Given the description of an element on the screen output the (x, y) to click on. 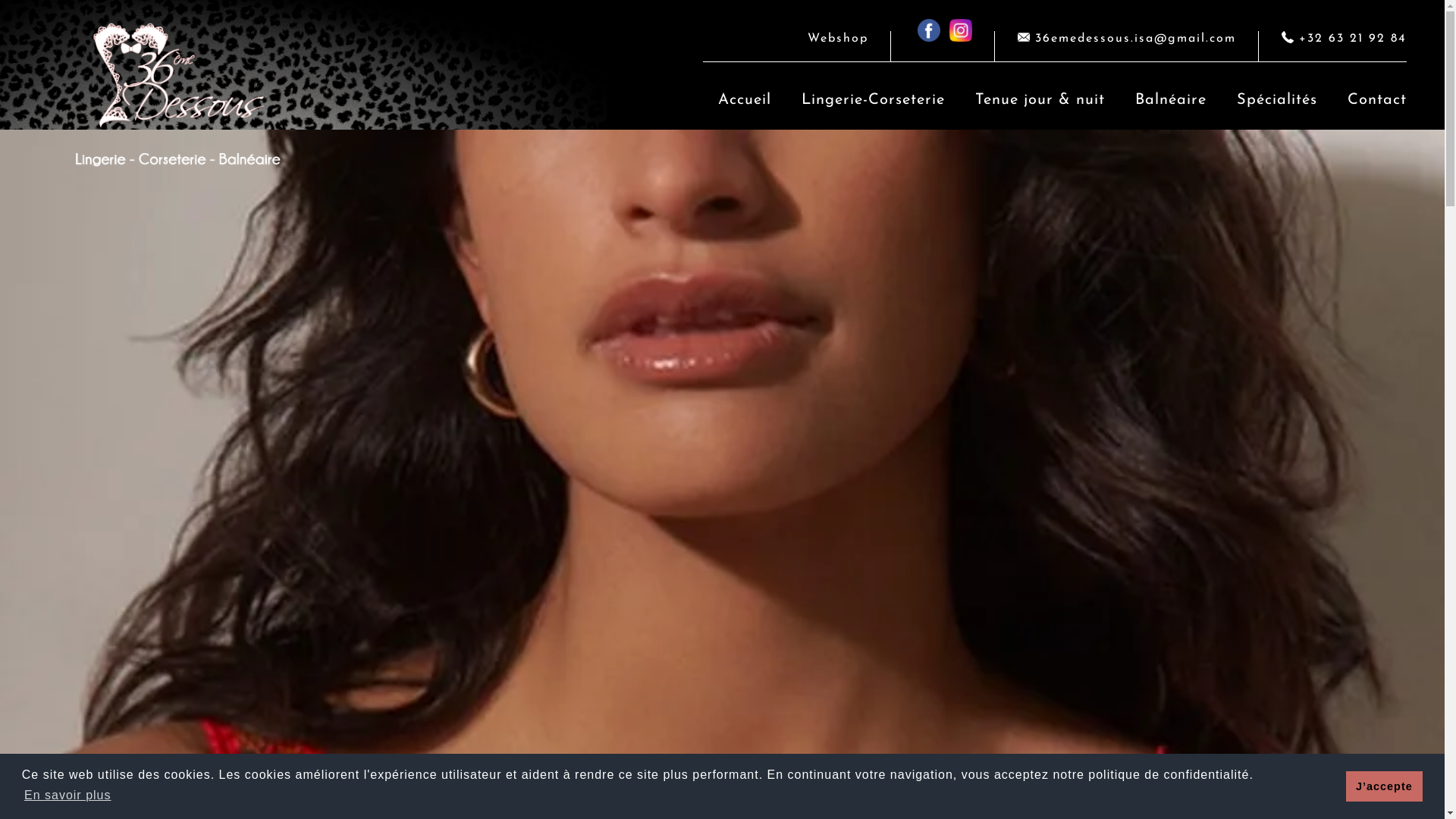
+32 63 21 92 84 Element type: text (1343, 38)
Accueil Element type: text (744, 99)
Tenue jour & nuit Element type: text (1040, 99)
36emedessous.isa@gmail.com Element type: text (1126, 38)
Webshop Element type: text (837, 39)
Lingerie-Corseterie Element type: text (873, 99)
Contact Element type: text (1369, 99)
En savoir plus Element type: text (67, 795)
